Given the description of an element on the screen output the (x, y) to click on. 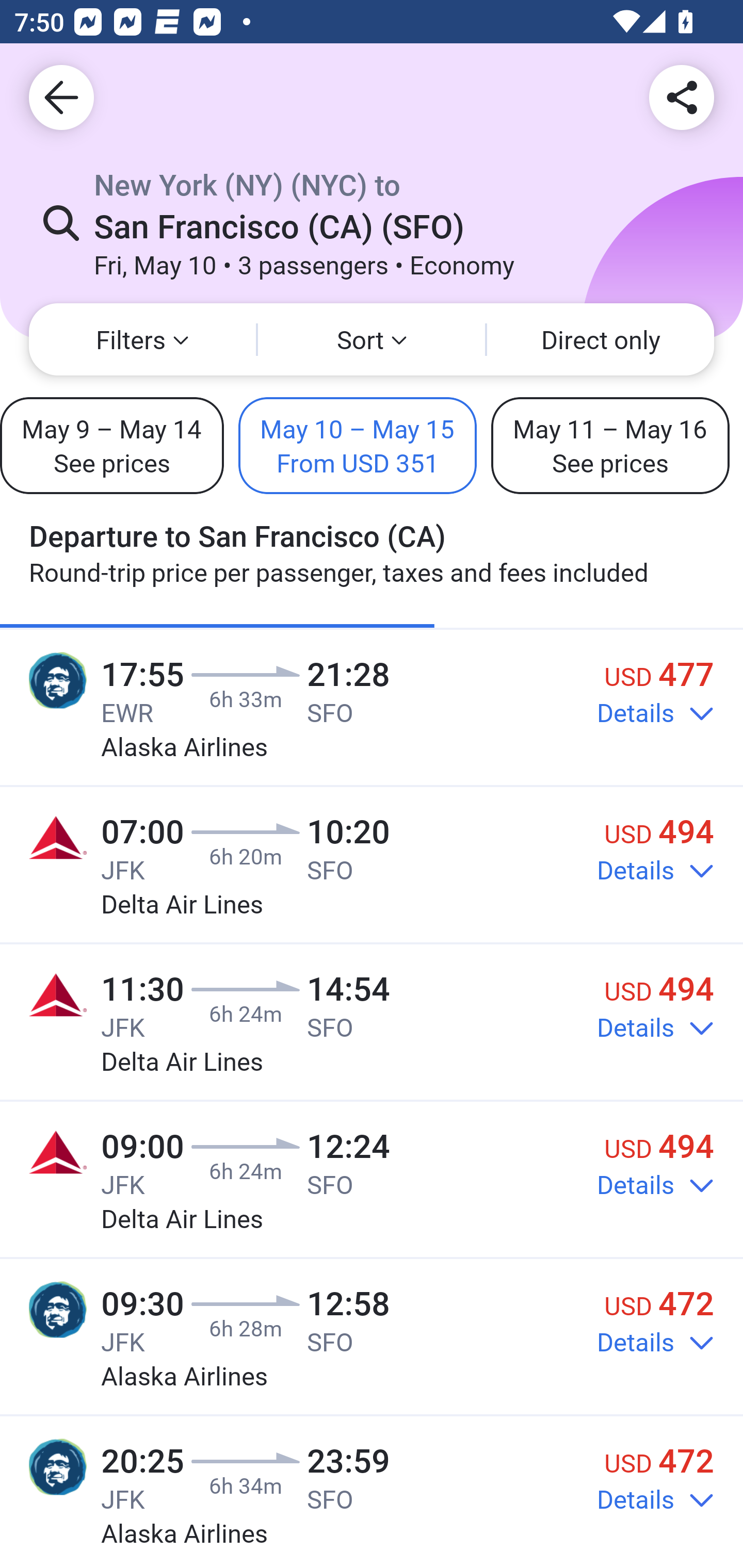
Filters (141, 339)
Sort (371, 339)
Direct only (600, 339)
May 9 – May 14 See prices (111, 444)
May 10 – May 15 From USD 351 (357, 444)
May 11 – May 16 See prices (610, 444)
